Given the description of an element on the screen output the (x, y) to click on. 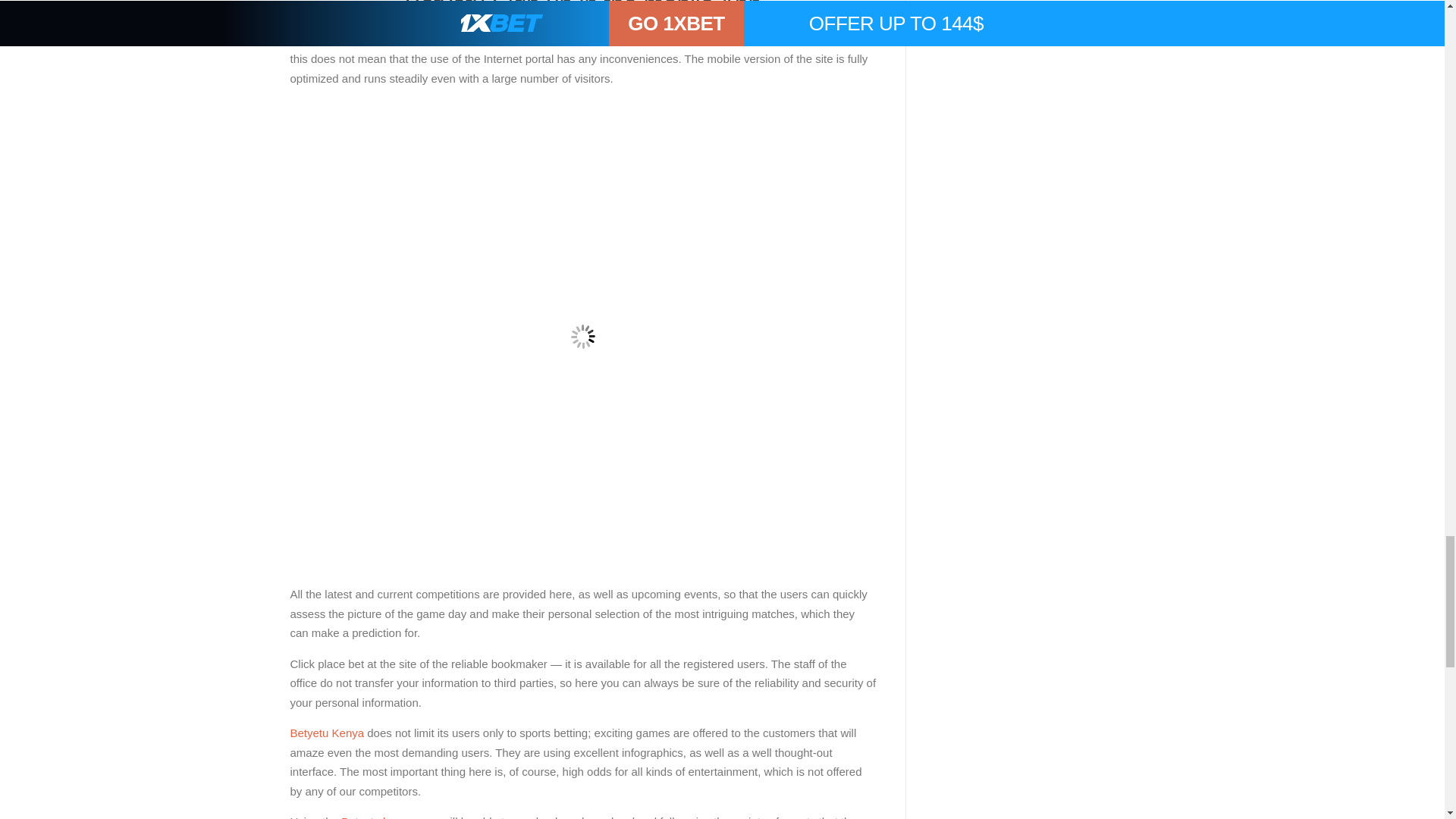
Betyetu bonus (376, 816)
Betyetu Kenya (326, 732)
Betyetu app (526, 39)
